Given the description of an element on the screen output the (x, y) to click on. 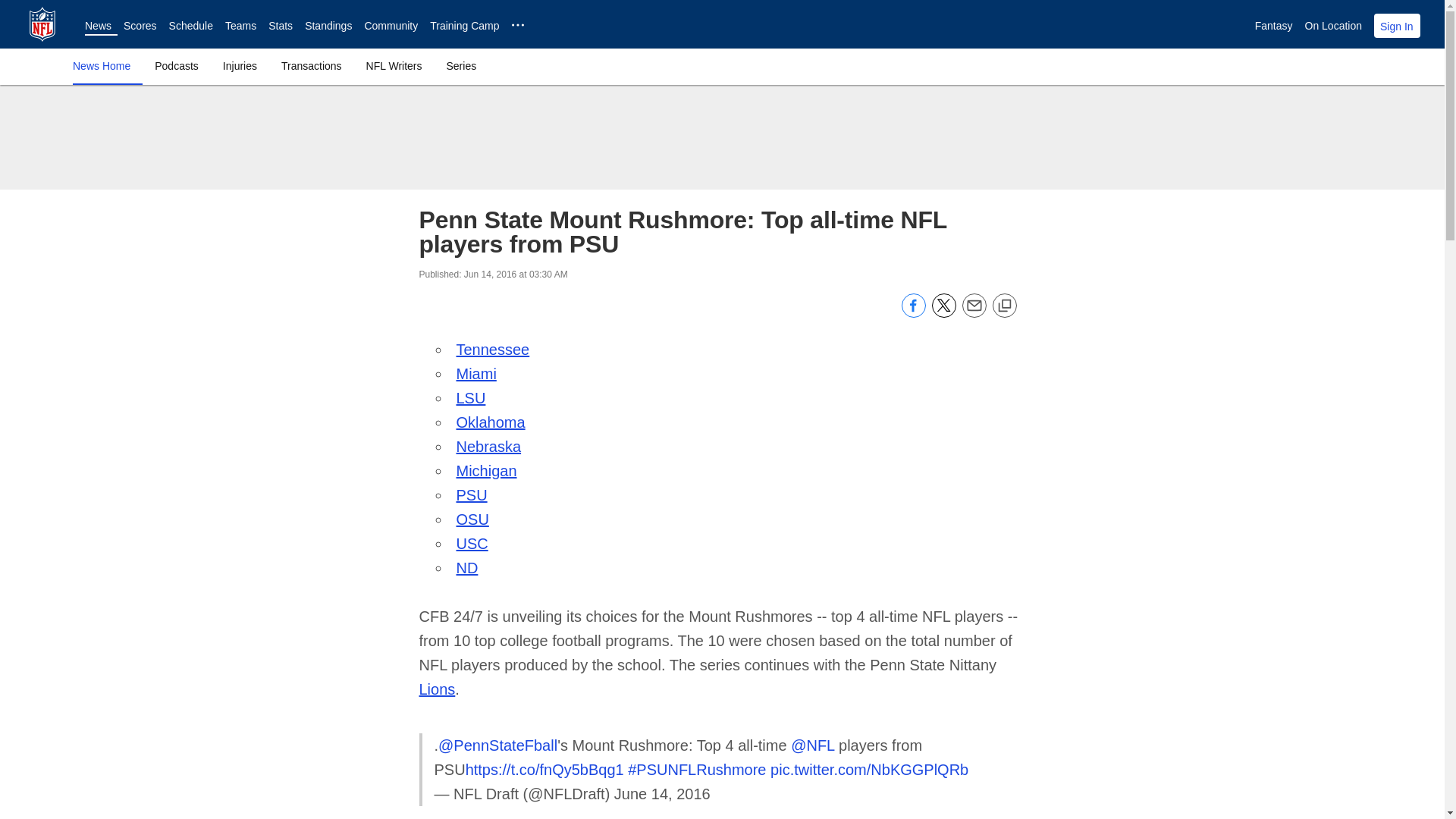
Link to NFL homepage (42, 23)
Scores (140, 25)
News (98, 25)
Schedule (190, 25)
Scores (140, 25)
Schedule (190, 25)
News (98, 25)
Stats (279, 25)
Teams (240, 25)
Teams (240, 25)
